Given the description of an element on the screen output the (x, y) to click on. 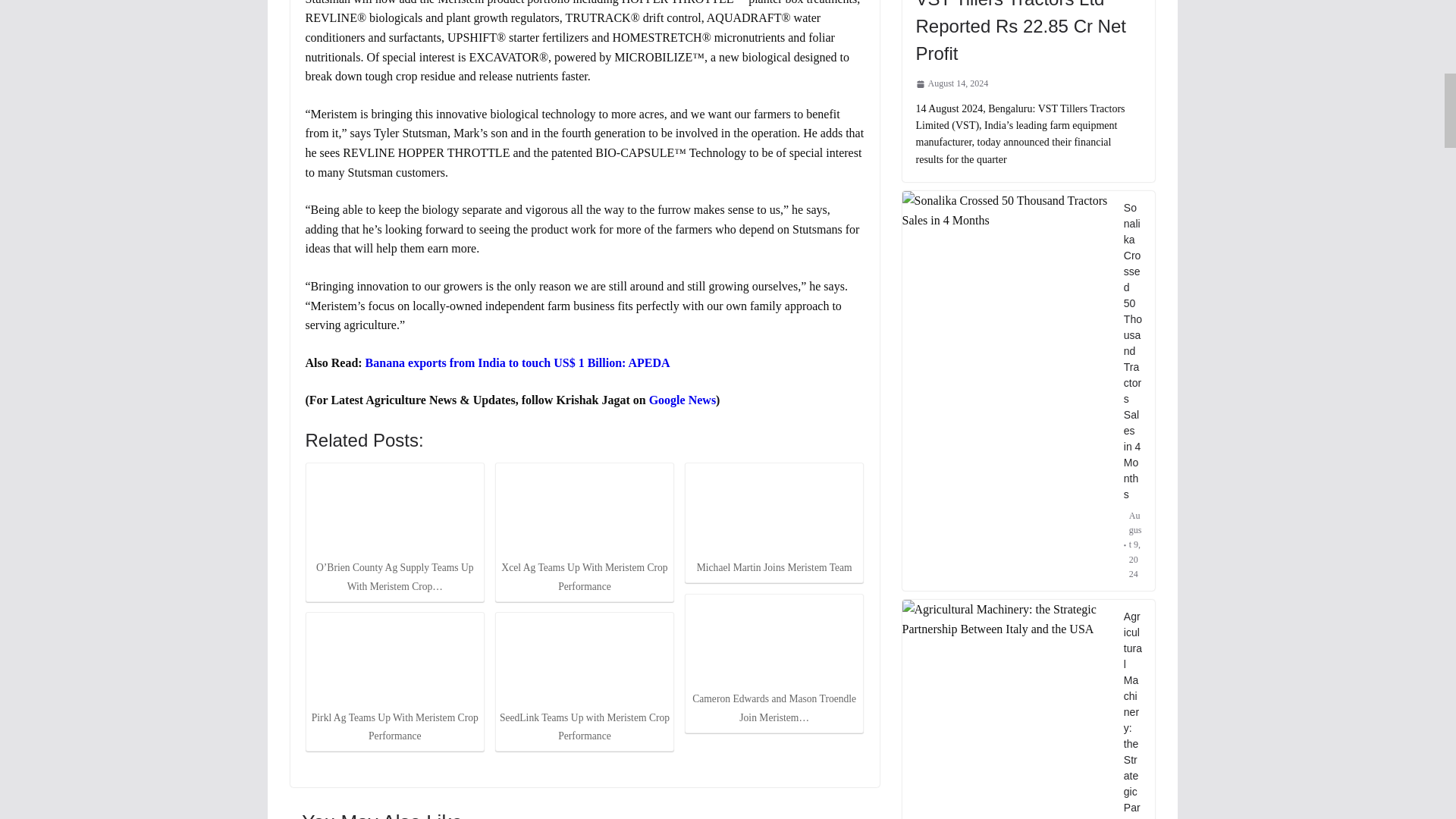
Pirkl Ag Teams Up With Meristem Crop Performance (394, 660)
SeedLink Teams Up with Meristem Crop Performance (584, 660)
Michael Martin Joins Meristem Team (774, 511)
Xcel Ag Teams Up With Meristem Crop Performance (584, 511)
